Given the description of an element on the screen output the (x, y) to click on. 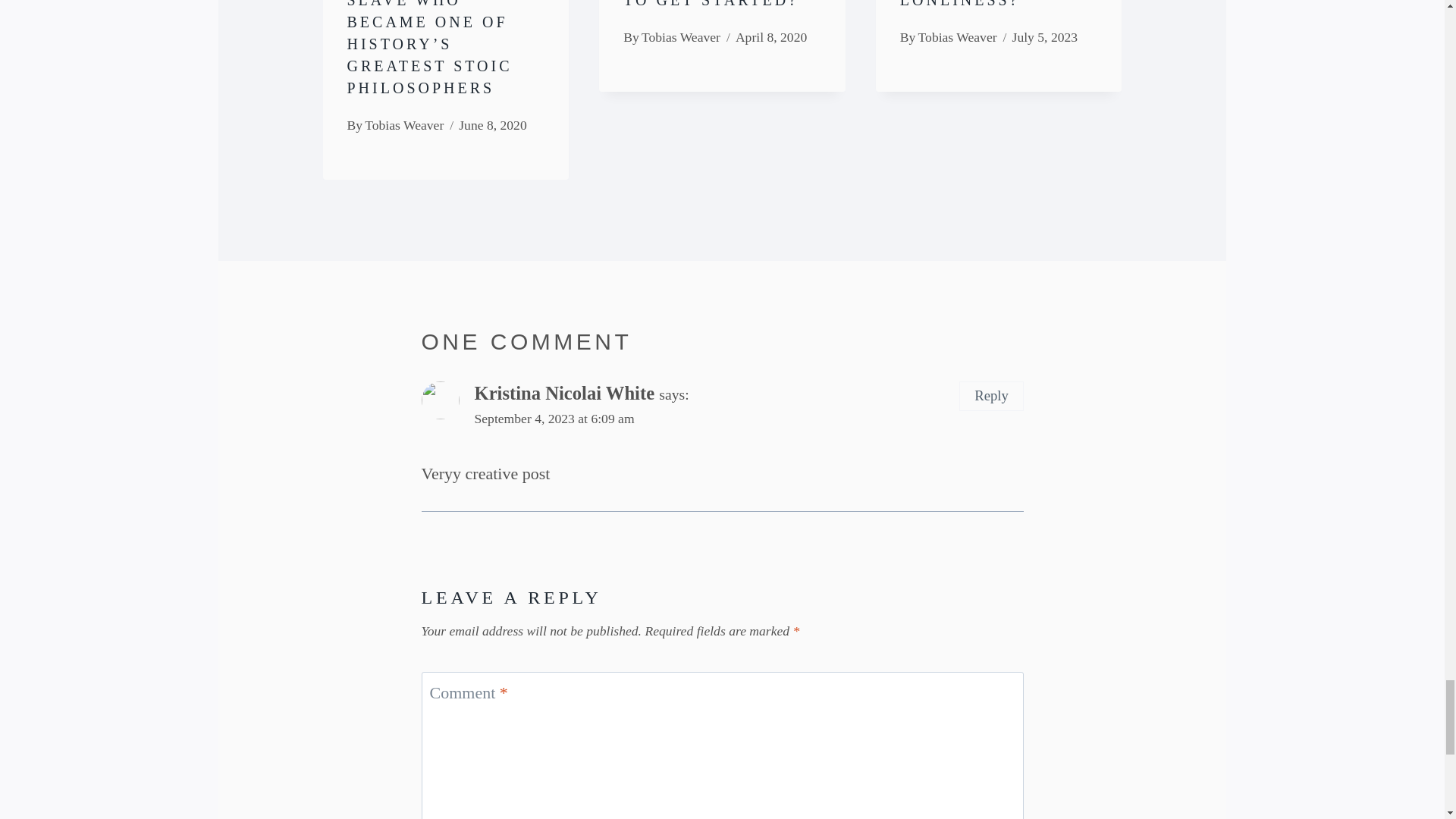
WHAT ARE THE BEST STOIC BOOKS TO GET STARTED? (716, 4)
Tobias Weaver (681, 37)
Tobias Weaver (404, 124)
